Given the description of an element on the screen output the (x, y) to click on. 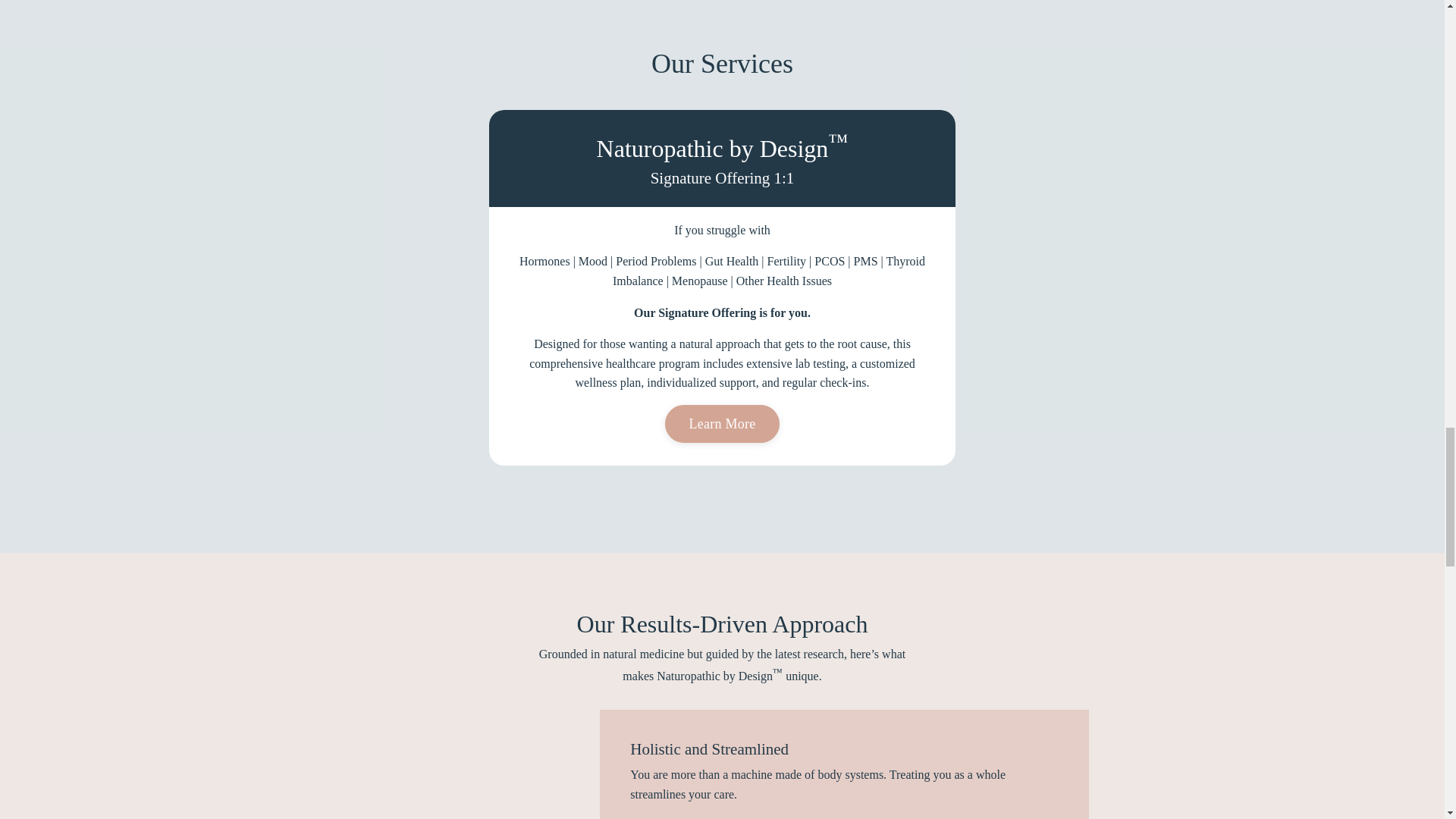
Learn More (722, 423)
